Given the description of an element on the screen output the (x, y) to click on. 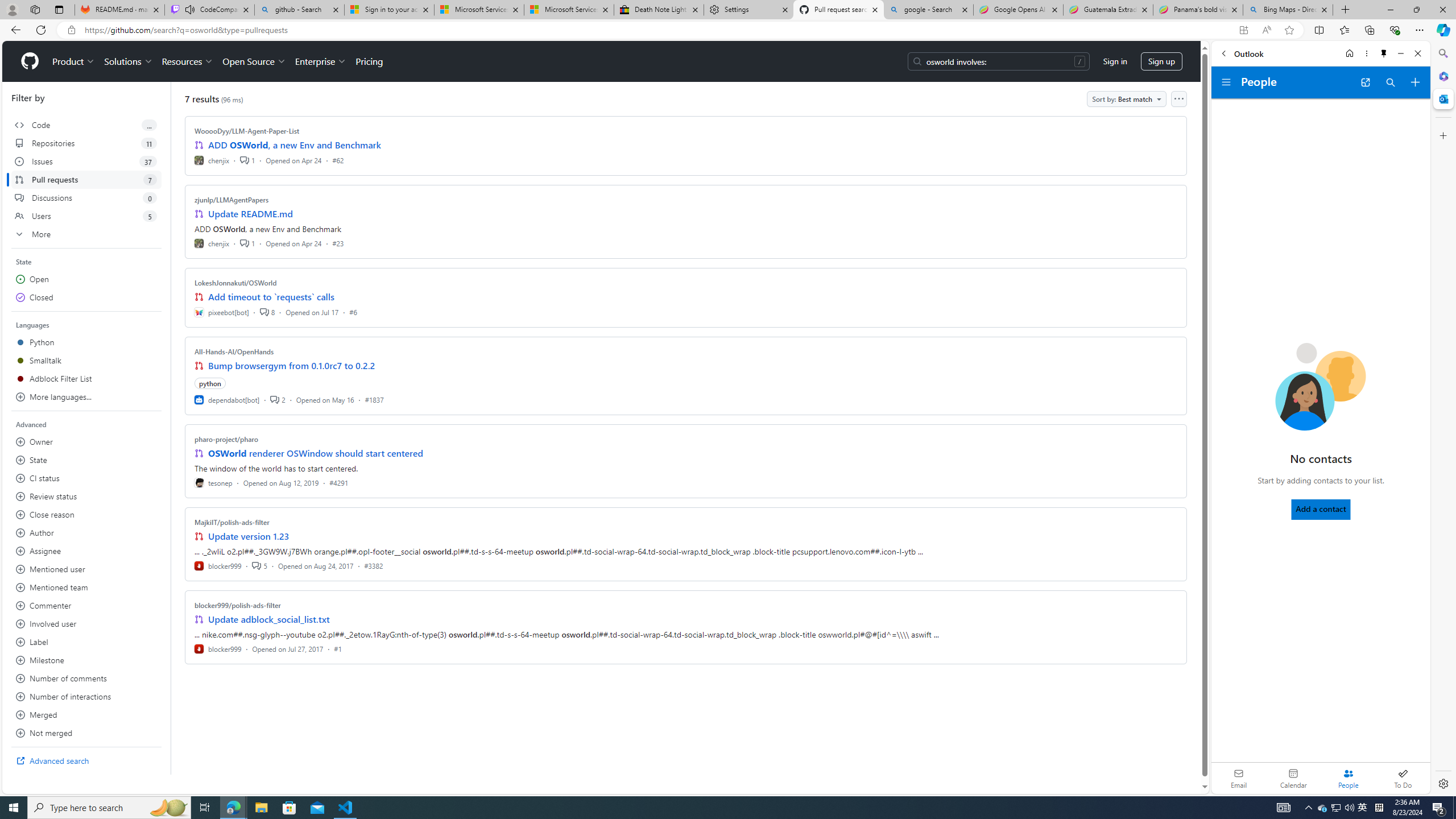
Draggable pane splitter (169, 427)
#23 (337, 242)
Product (74, 60)
ADD OSWorld, a new Env and Benchmark (294, 144)
Update adblock_social_list.txt (269, 619)
To Do (1402, 777)
pharo-project/pharo (226, 438)
